Given the description of an element on the screen output the (x, y) to click on. 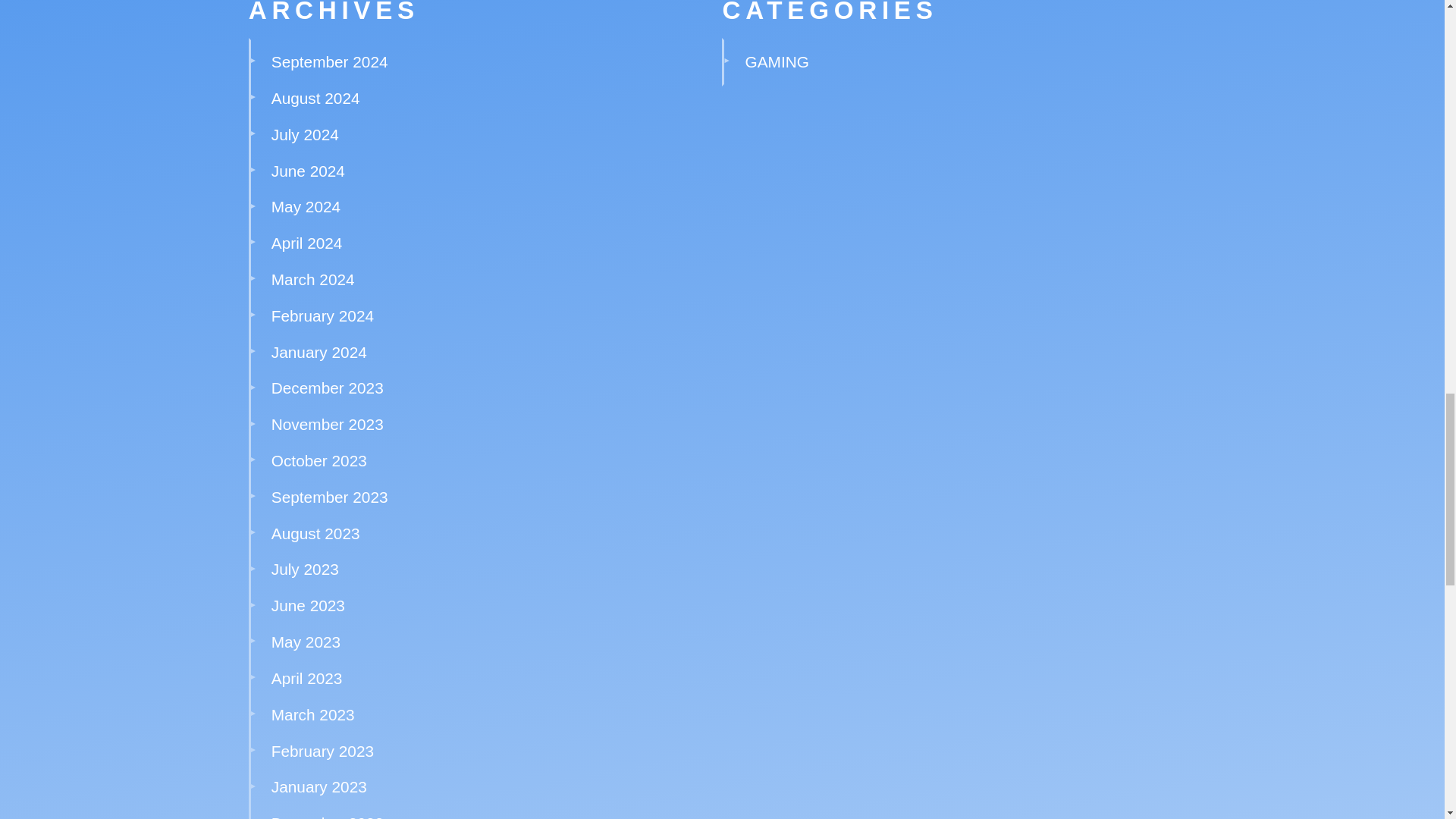
February 2023 (322, 751)
May 2024 (305, 206)
April 2024 (306, 242)
March 2023 (312, 714)
August 2024 (314, 98)
November 2023 (327, 424)
June 2024 (307, 170)
May 2023 (305, 641)
July 2024 (304, 134)
September 2023 (329, 497)
